Given the description of an element on the screen output the (x, y) to click on. 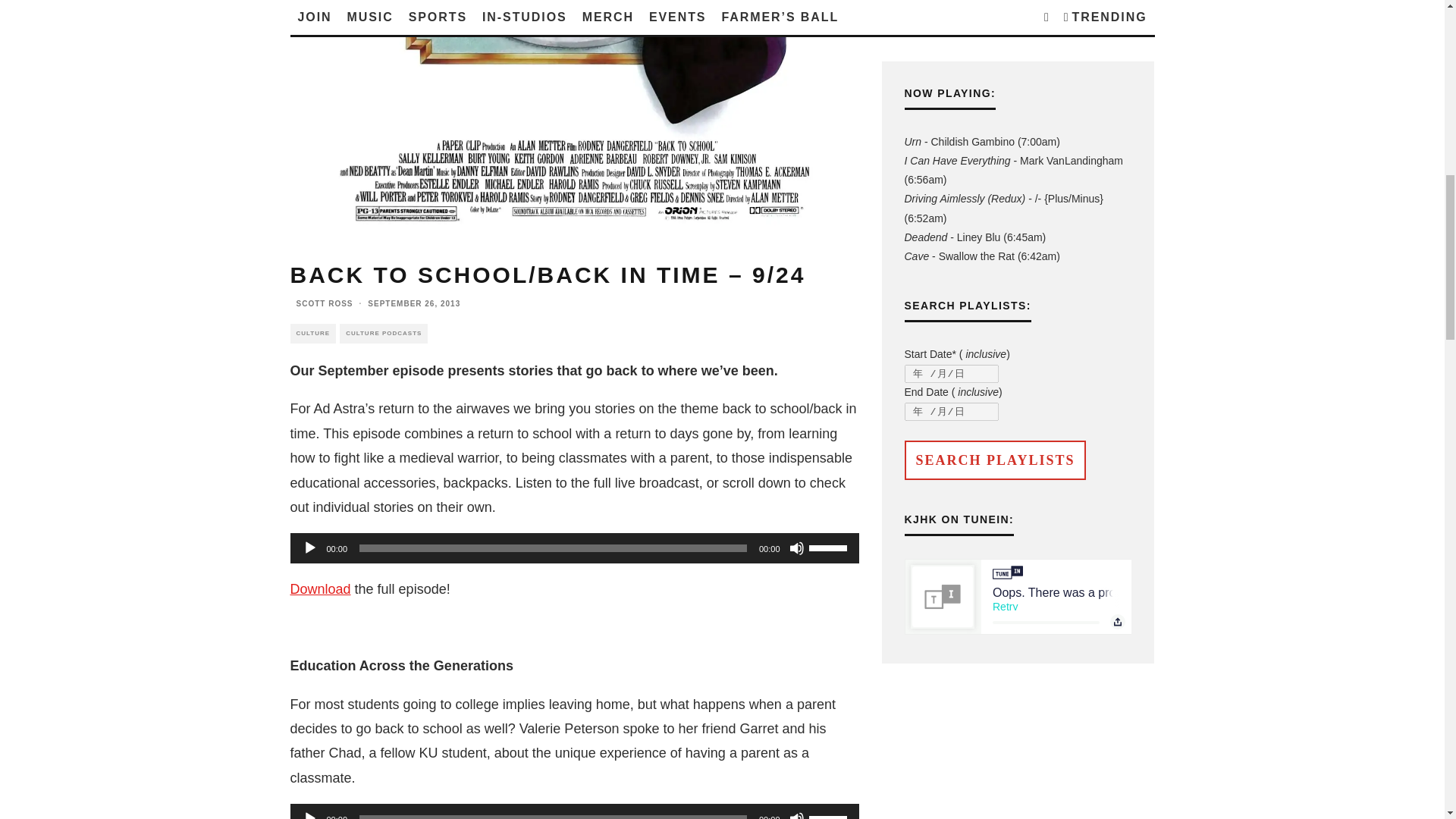
Play (309, 815)
Mute (796, 548)
Play (309, 548)
Mute (796, 815)
